Given the description of an element on the screen output the (x, y) to click on. 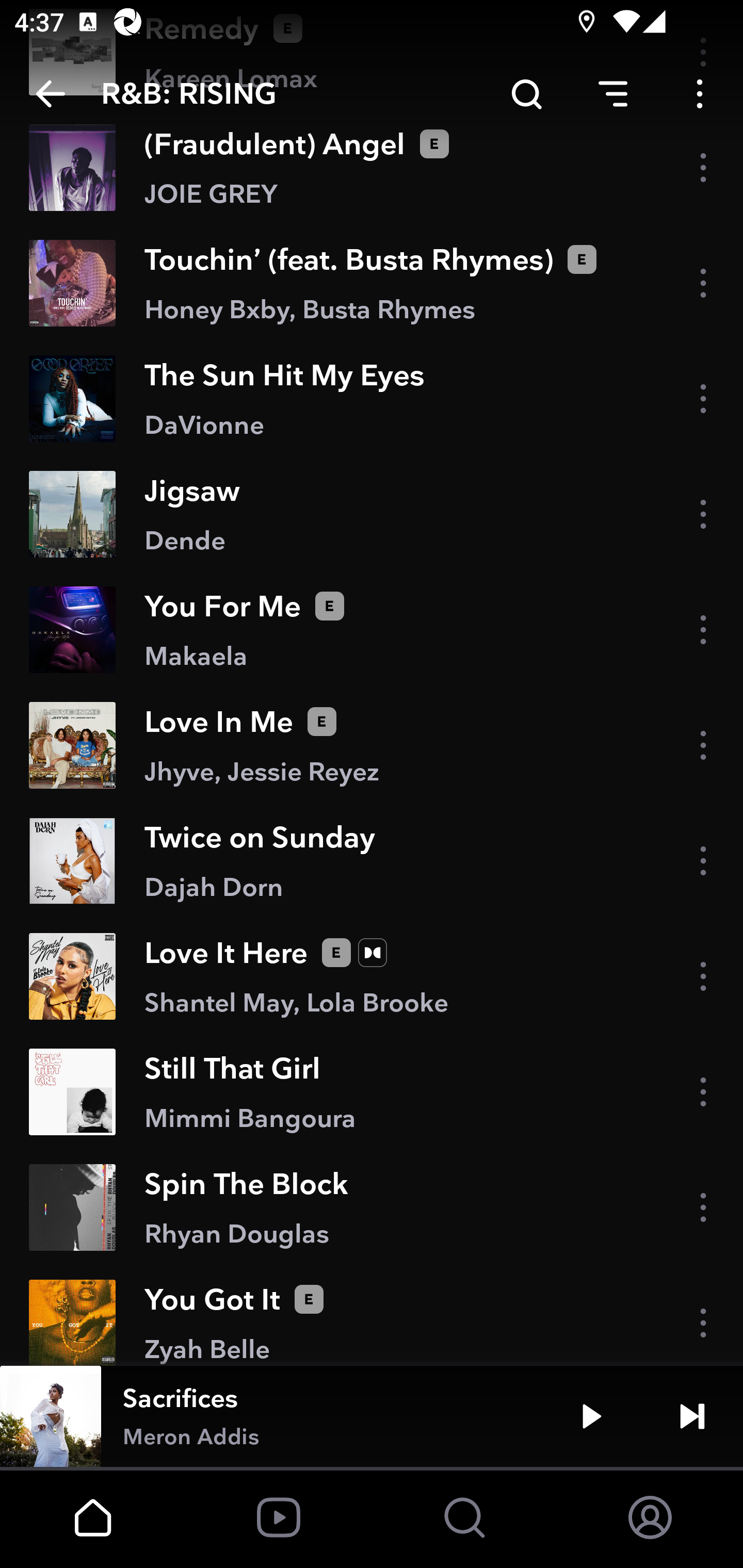
Back (50, 93)
Search (525, 93)
Sorting (612, 93)
Options (699, 93)
(Fraudulent) Angel JOIE GREY (371, 167)
The Sun Hit My Eyes DaVionne (371, 398)
Jigsaw Dende (371, 514)
You For Me Makaela (371, 629)
Love In Me Jhyve, Jessie Reyez (371, 744)
Twice on Sunday Dajah Dorn (371, 860)
Love It Here Shantel May, Lola Brooke (371, 976)
Still That Girl Mimmi Bangoura (371, 1091)
Spin The Block Rhyan Douglas (371, 1207)
You Got It Zyah Belle (371, 1315)
Sacrifices Meron Addis Play (371, 1416)
Play (590, 1416)
